Given the description of an element on the screen output the (x, y) to click on. 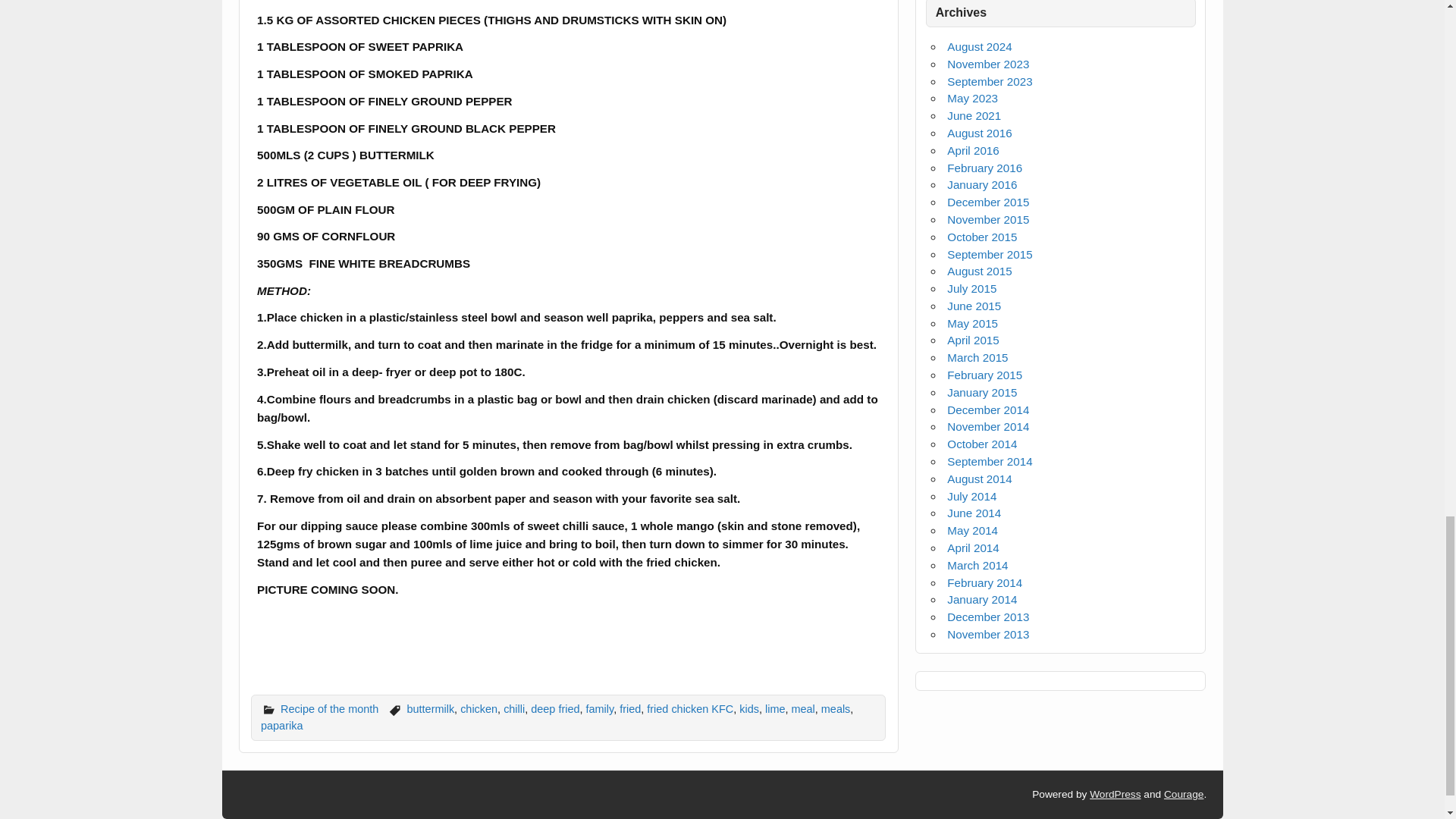
August 2024 (979, 46)
deep fried (555, 708)
family (598, 708)
September 2023 (989, 81)
meal (803, 708)
buttermilk (430, 708)
May 2023 (972, 97)
fried chicken KFC (689, 708)
November 2023 (988, 63)
WordPress (1114, 794)
kids (748, 708)
Courage WordPress Theme (1183, 794)
Recipe of the month (329, 708)
fried (630, 708)
meals (835, 708)
